Given the description of an element on the screen output the (x, y) to click on. 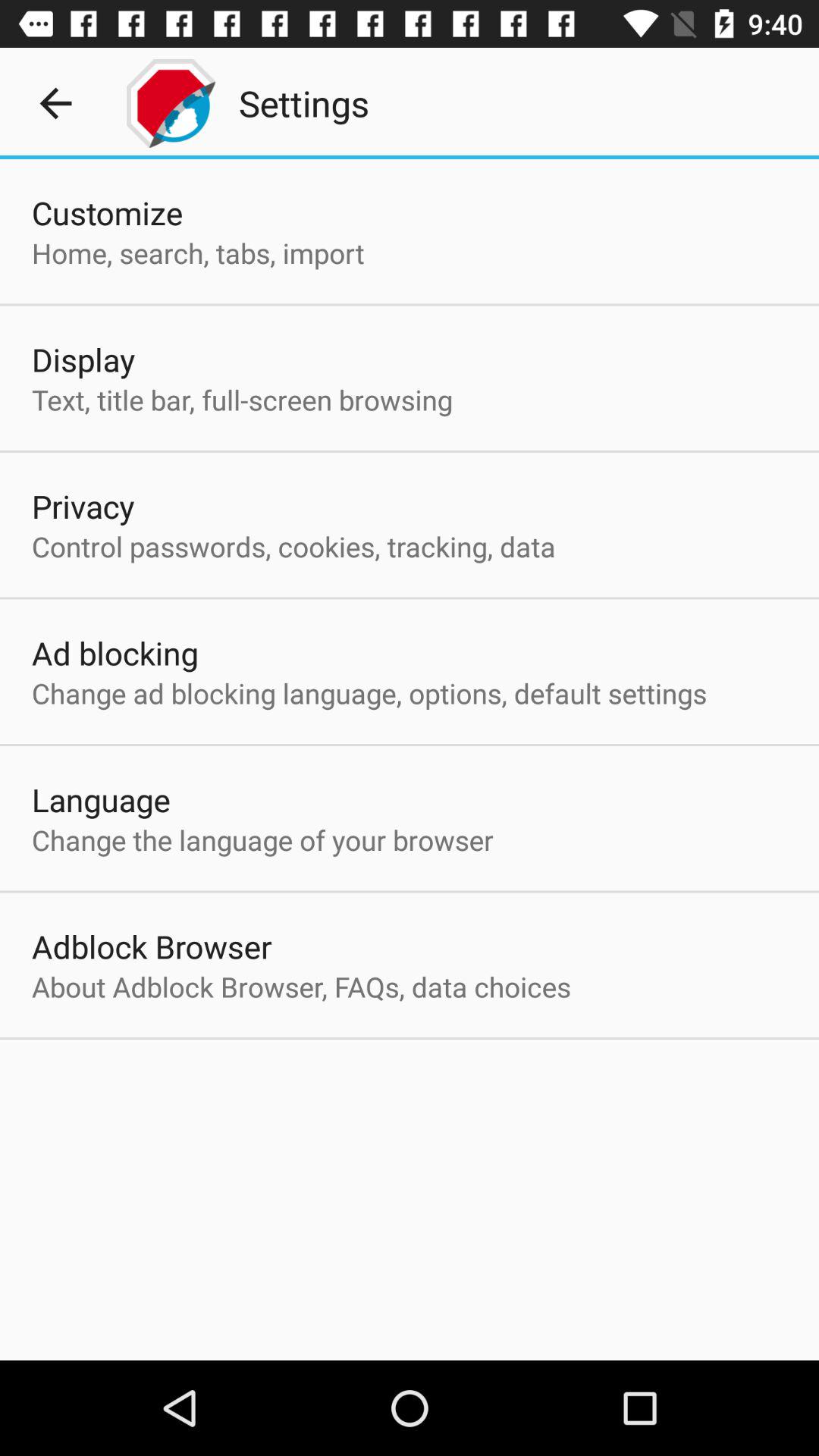
turn off the app below the home search tabs icon (83, 359)
